Given the description of an element on the screen output the (x, y) to click on. 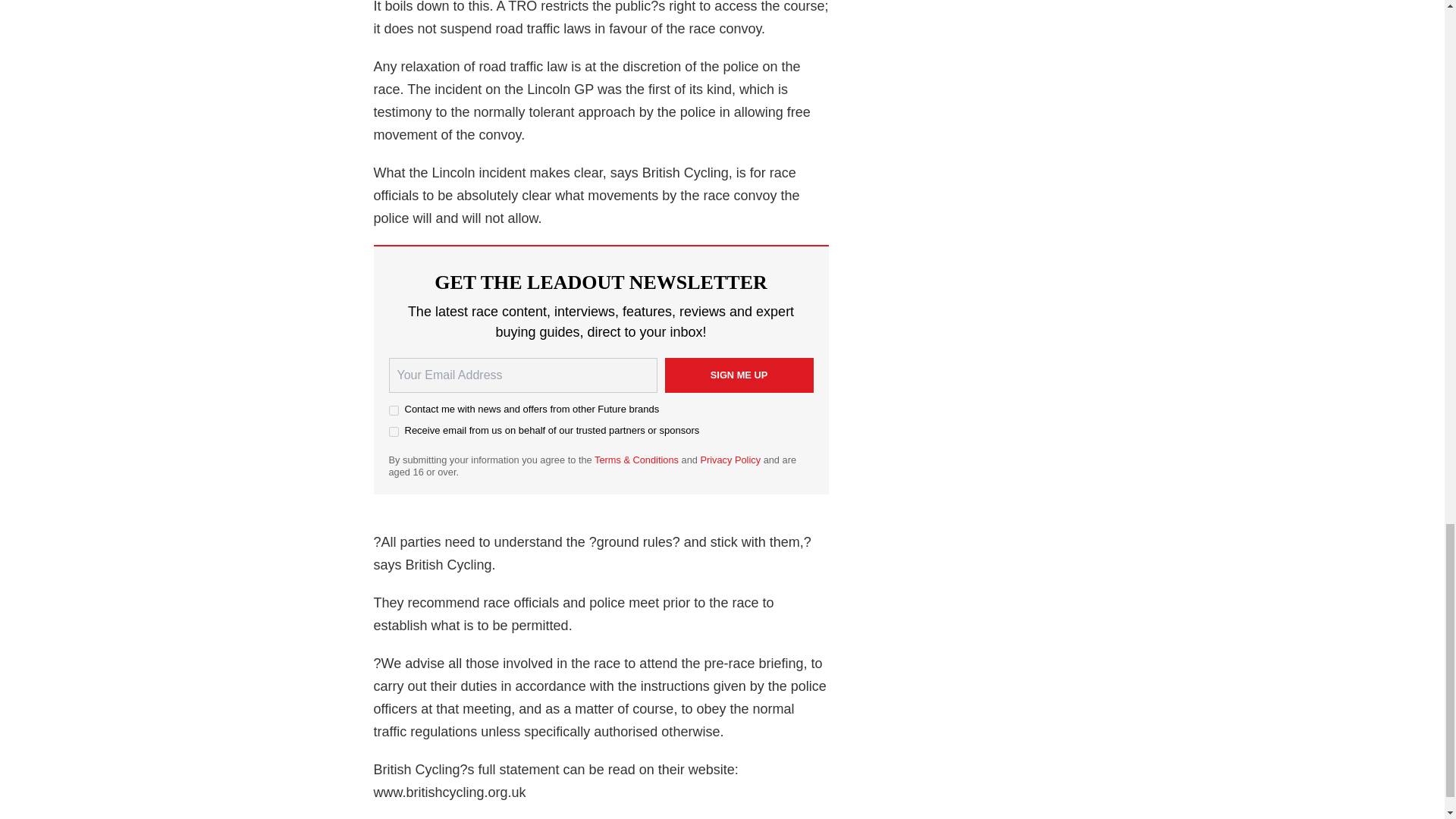
on (392, 431)
Sign me up (737, 375)
on (392, 410)
